Given the description of an element on the screen output the (x, y) to click on. 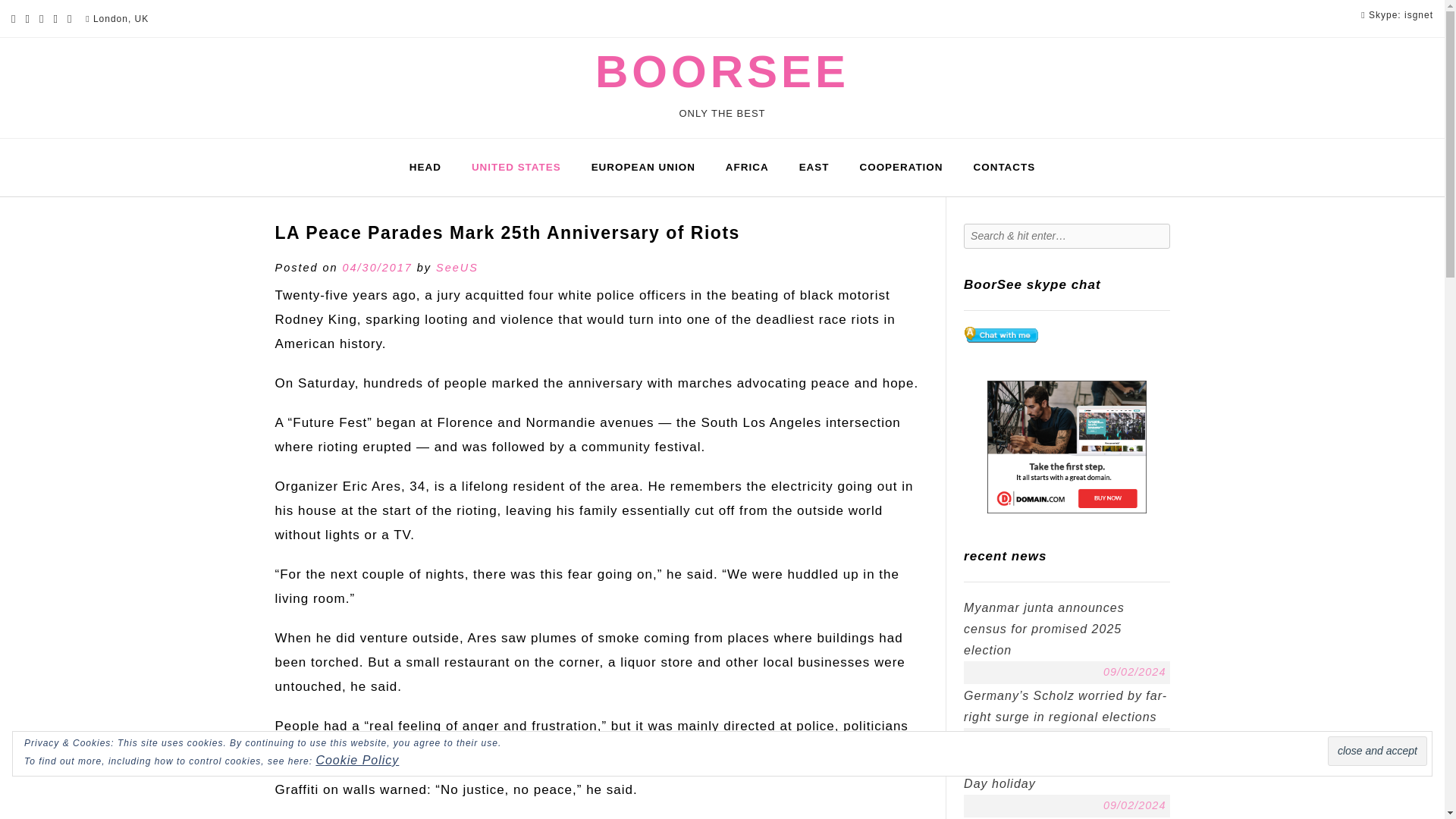
close and accept (1376, 750)
SeeUS (457, 267)
EUROPEAN UNION (643, 167)
AFRICA (747, 167)
Myanmar junta announces census for promised 2025 election (1043, 628)
UNITED STATES (516, 167)
COOPERATION (901, 167)
EAST (814, 167)
BOORSEE (721, 71)
US Honors workers with Labor Day holiday (1056, 772)
